Given the description of an element on the screen output the (x, y) to click on. 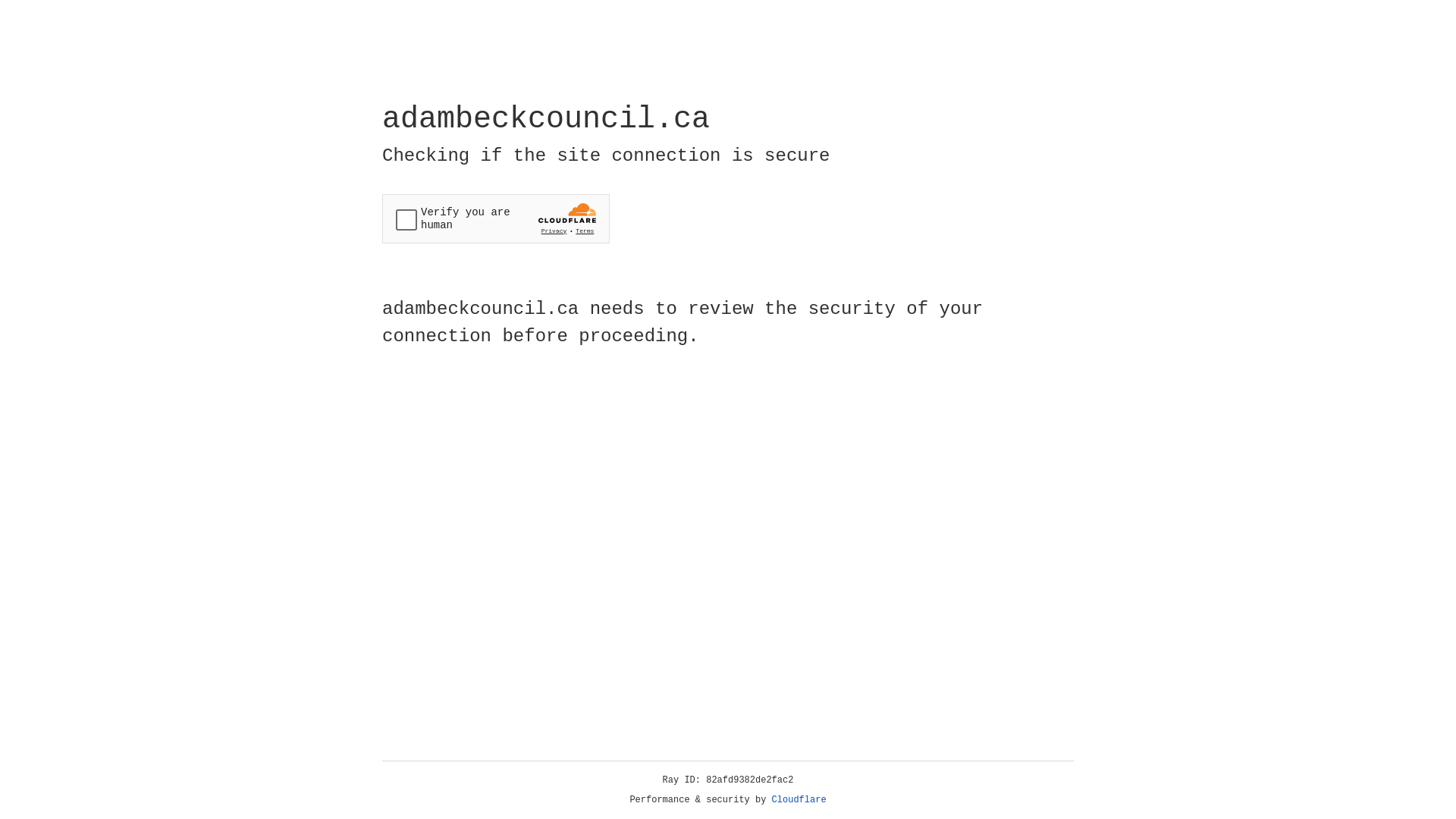
Cloudflare Element type: text (798, 799)
Widget containing a Cloudflare security challenge Element type: hover (495, 218)
